Given the description of an element on the screen output the (x, y) to click on. 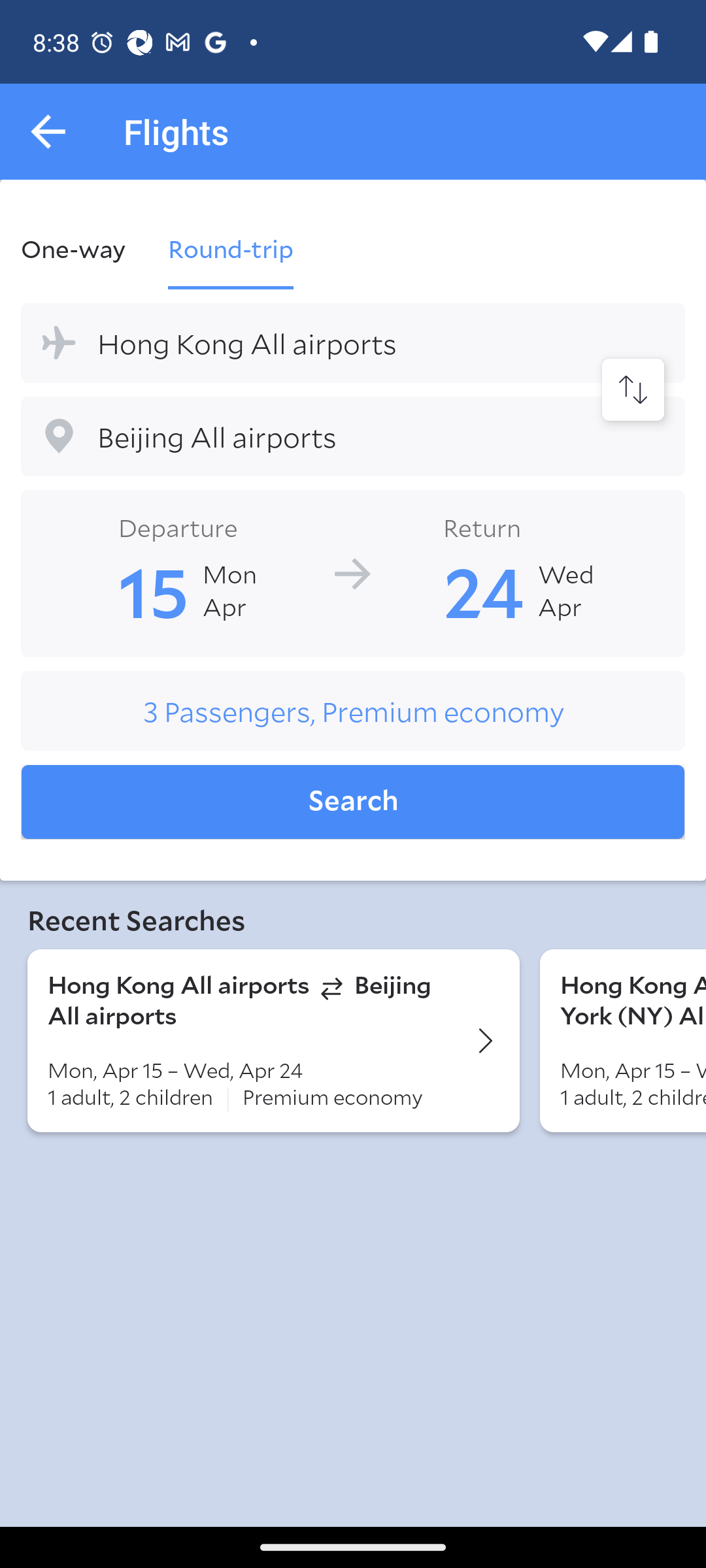
One-way (83, 248)
Hong Kong All airports (352, 342)
Beijing All airports (352, 436)
Departure 15 Mon Apr Return 24 Wed Apr (352, 572)
3 Passengers, Premium economy (352, 711)
Search  Search (352, 801)
